Given the description of an element on the screen output the (x, y) to click on. 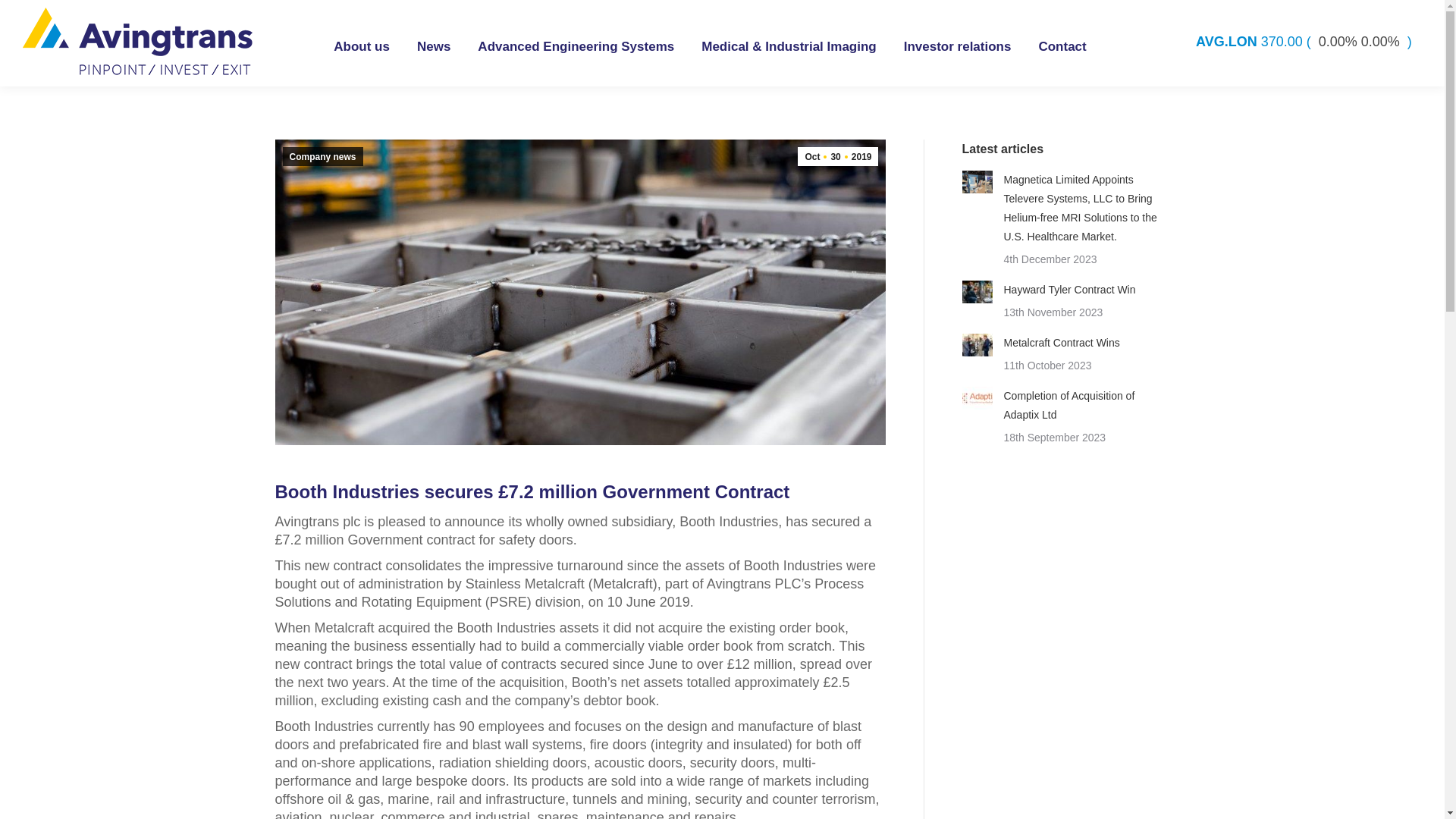
3:58 pm (837, 156)
Contact (1062, 45)
Advanced Engineering Systems (575, 45)
Investor relations (957, 45)
News (432, 45)
Company news (322, 156)
About us (361, 45)
